Given the description of an element on the screen output the (x, y) to click on. 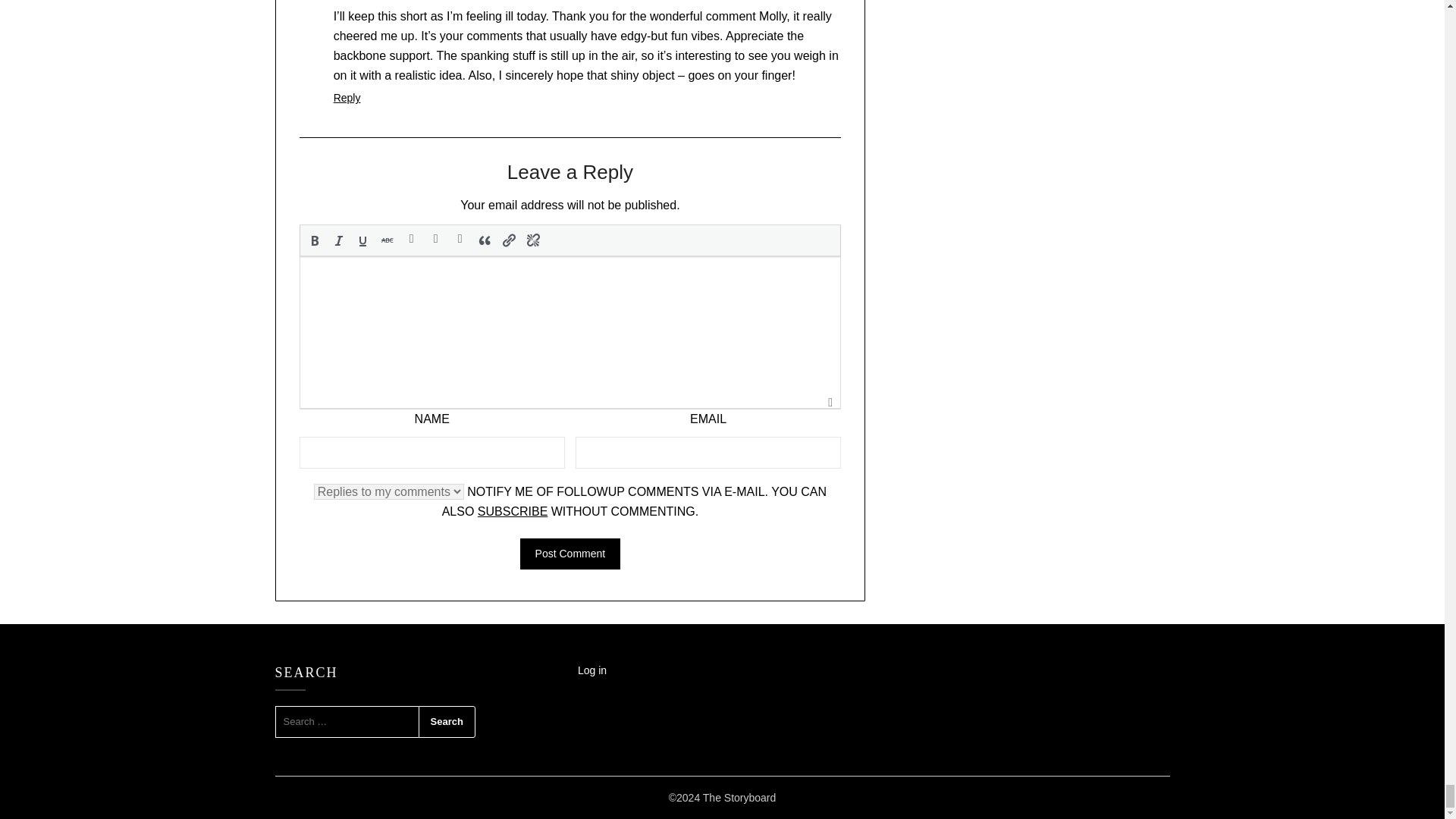
Post Comment (570, 553)
Rich Text Area. Press Alt-Shift-H for help. (570, 331)
Search (447, 721)
Search (447, 721)
